Given the description of an element on the screen output the (x, y) to click on. 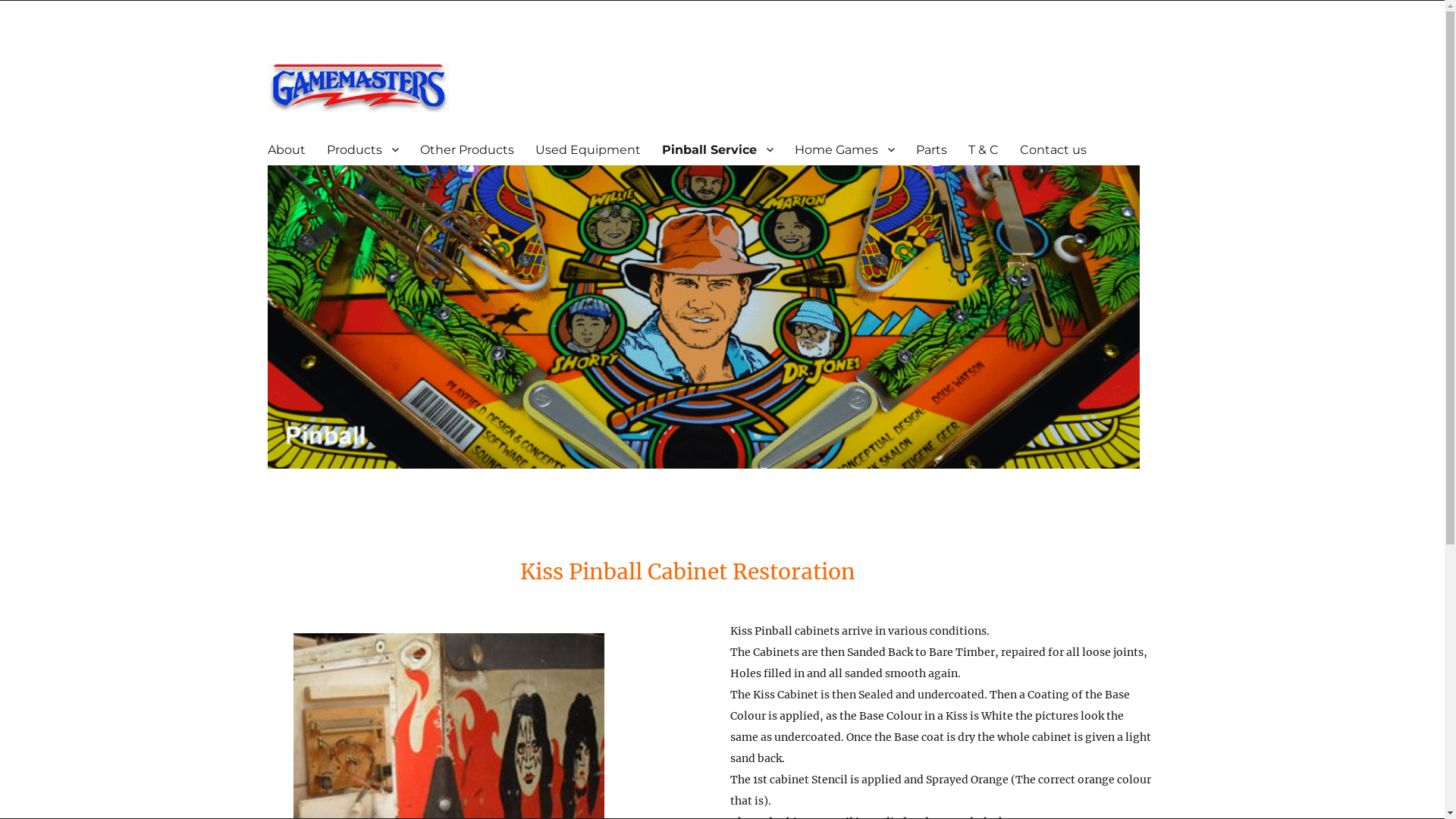
Used Equipment Element type: text (587, 149)
Other Products Element type: text (466, 149)
Pinball Service Element type: text (716, 149)
Home Games Element type: text (844, 149)
Parts Element type: text (931, 149)
Pinball, Pinball repairs, Pinball Restoration Element type: hover (702, 316)
About Element type: text (285, 149)
T & C Element type: text (982, 149)
Contact us Element type: text (1052, 149)
Products Element type: text (361, 149)
